Given the description of an element on the screen output the (x, y) to click on. 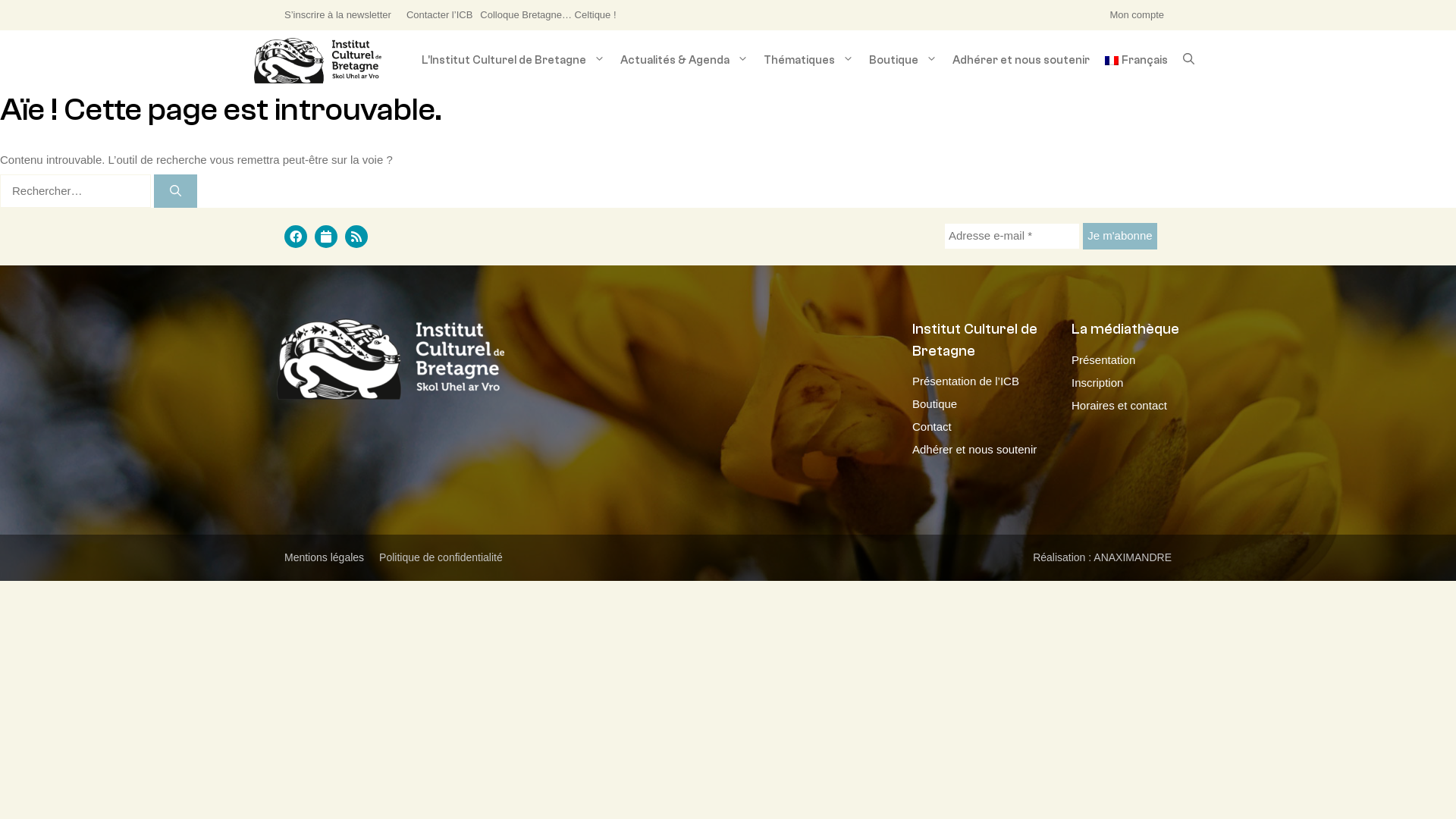
Je m'abonne Element type: text (1119, 235)
Boutique Element type: text (934, 403)
Adresse e-mail Element type: hover (1011, 235)
ANAXIMANDRE Element type: text (1132, 557)
Flux RSS Element type: hover (356, 236)
Horaires et contact Element type: text (1119, 404)
Mon compte Element type: text (1136, 14)
Boutique Element type: text (902, 60)
Inscription Element type: text (1097, 382)
Institut culturel de Bretagne Element type: hover (317, 60)
Open Agenda Element type: hover (325, 236)
Facebook Element type: hover (295, 236)
Contact Element type: text (931, 426)
